Given the description of an element on the screen output the (x, y) to click on. 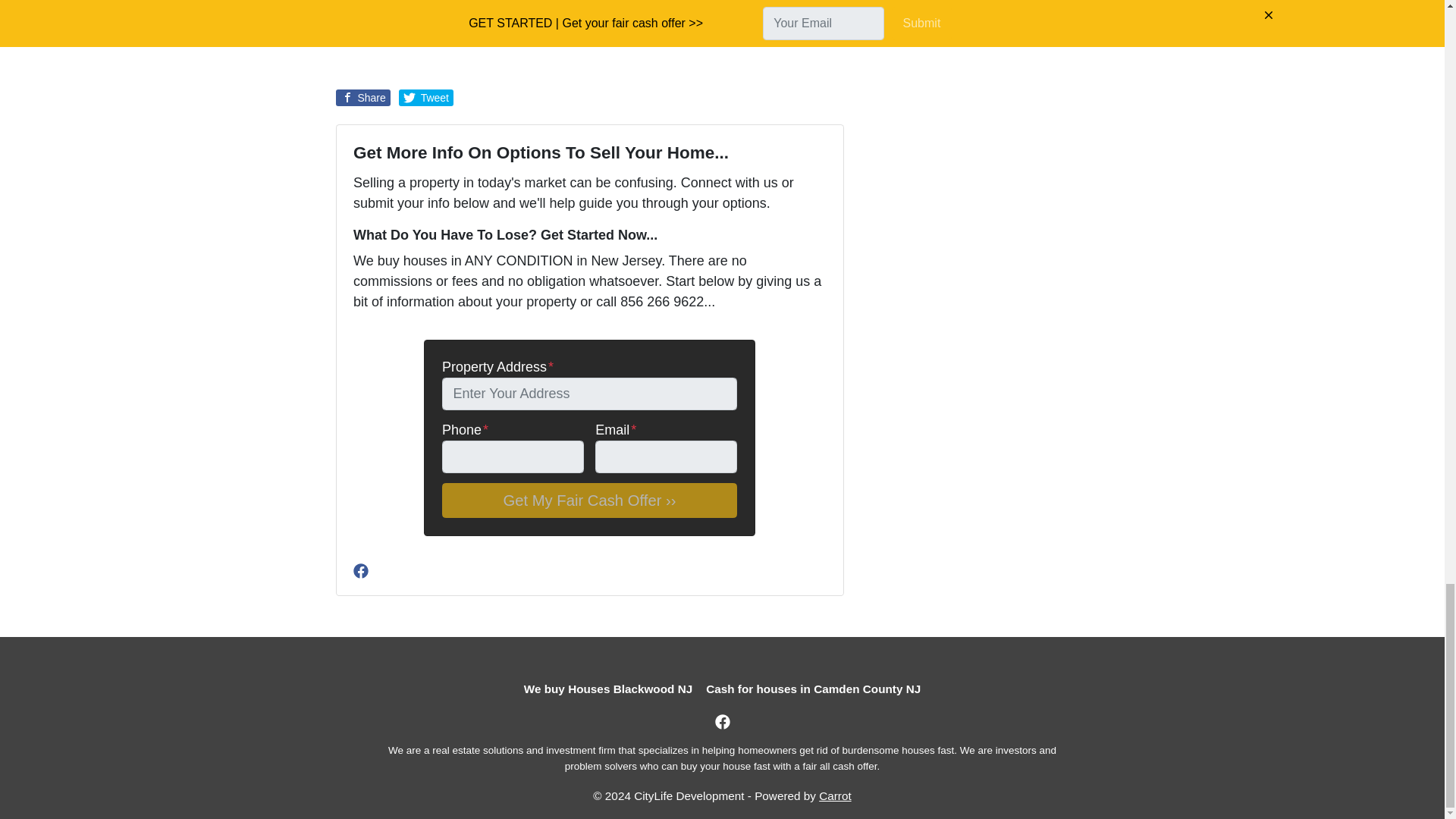
Facebook (360, 570)
We buy Houses Blackwood NJ (607, 689)
Share (362, 97)
Tweet (425, 97)
Reach out to us (572, 10)
Share on Twitter (425, 97)
Share on Facebook (362, 97)
